Given the description of an element on the screen output the (x, y) to click on. 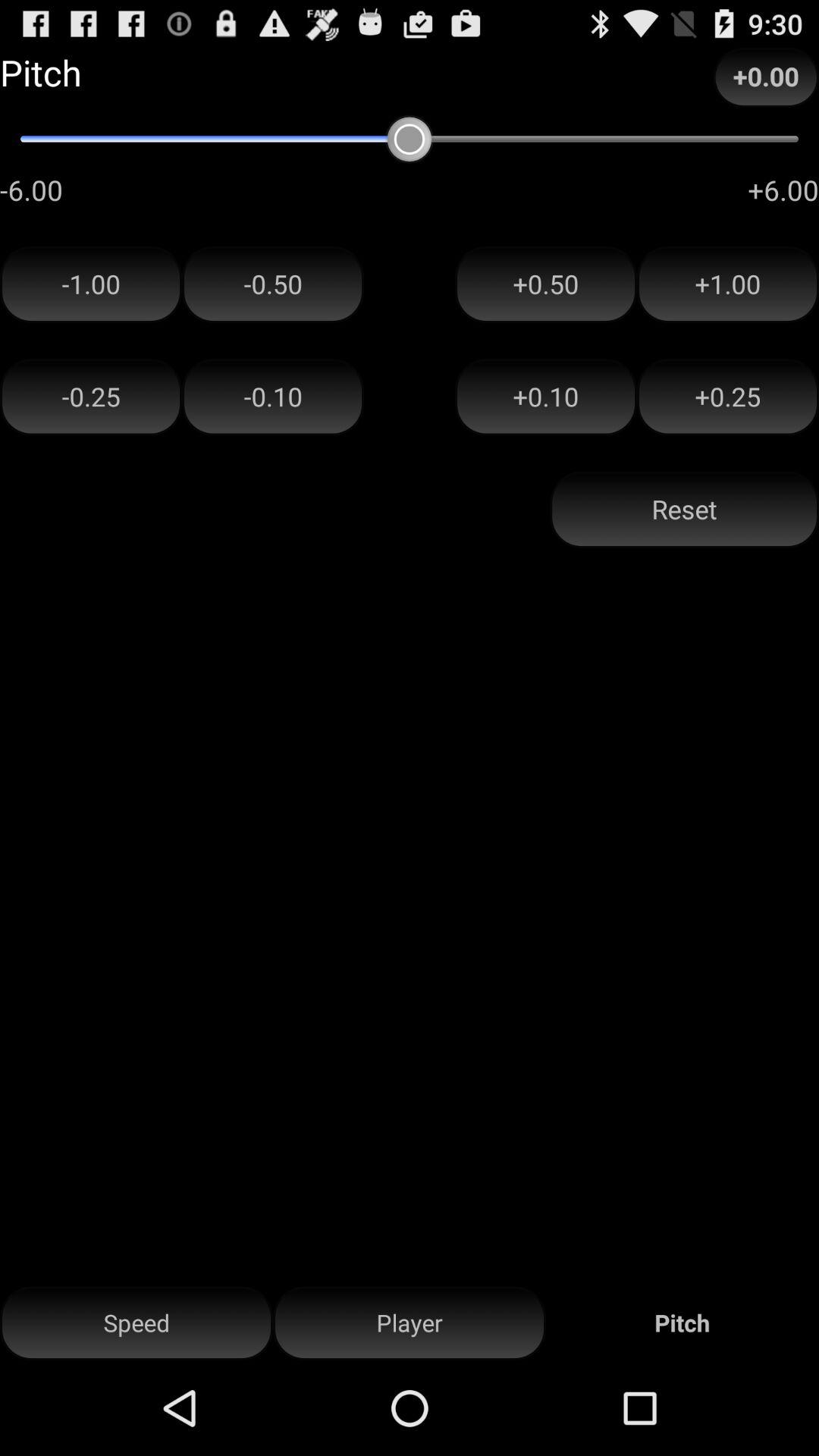
select the icon above the player item (684, 509)
